Given the description of an element on the screen output the (x, y) to click on. 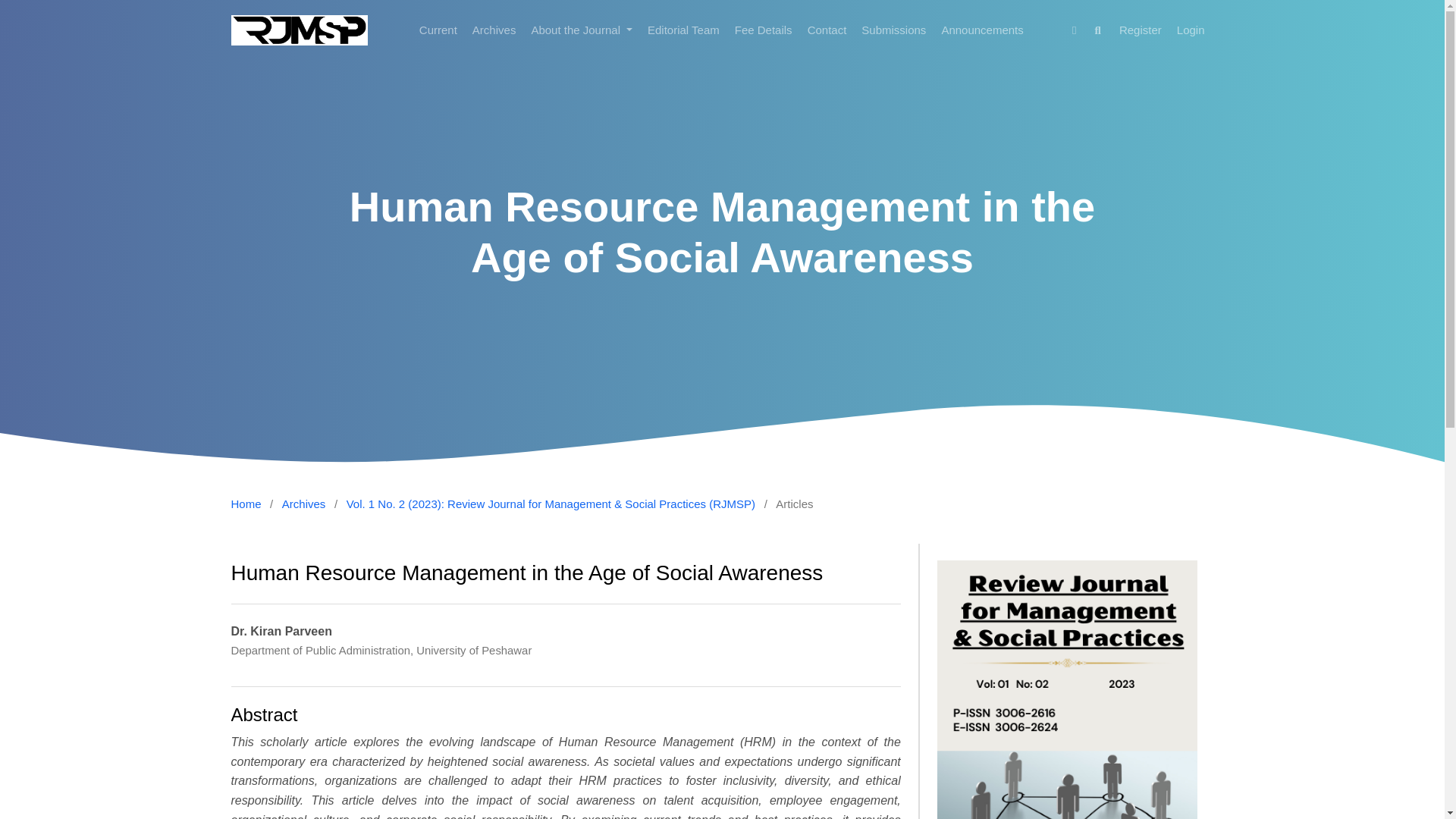
Contact (819, 30)
About the Journal (573, 30)
Editorial Team (675, 30)
Login (1183, 30)
Home (1130, 30)
Fee Details (245, 504)
Current (755, 30)
Archives (430, 30)
Archives (486, 30)
Register (304, 504)
Announcements (1132, 30)
Submissions (974, 30)
